Given the description of an element on the screen output the (x, y) to click on. 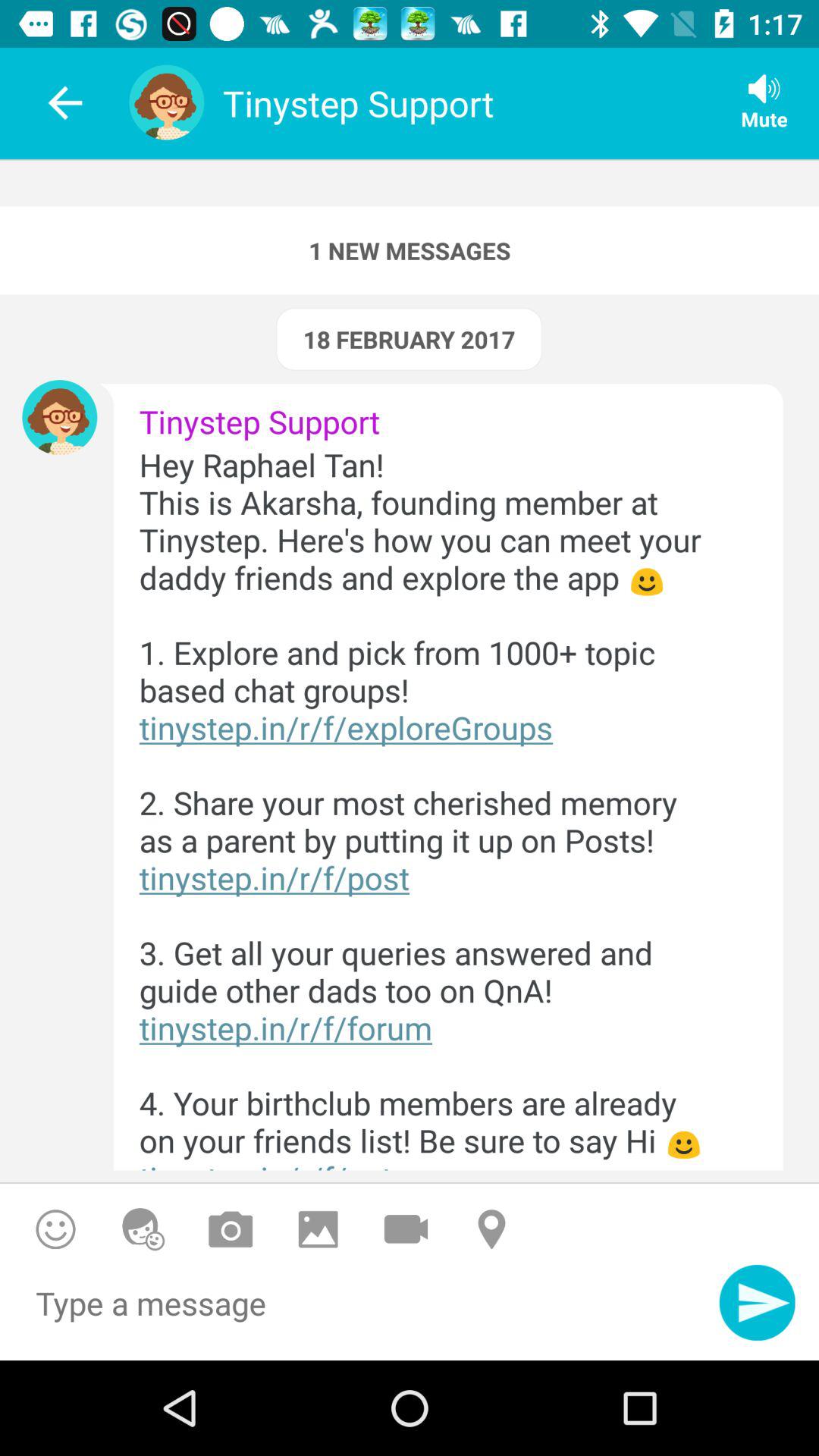
add picture from your photo album (318, 1229)
